Given the description of an element on the screen output the (x, y) to click on. 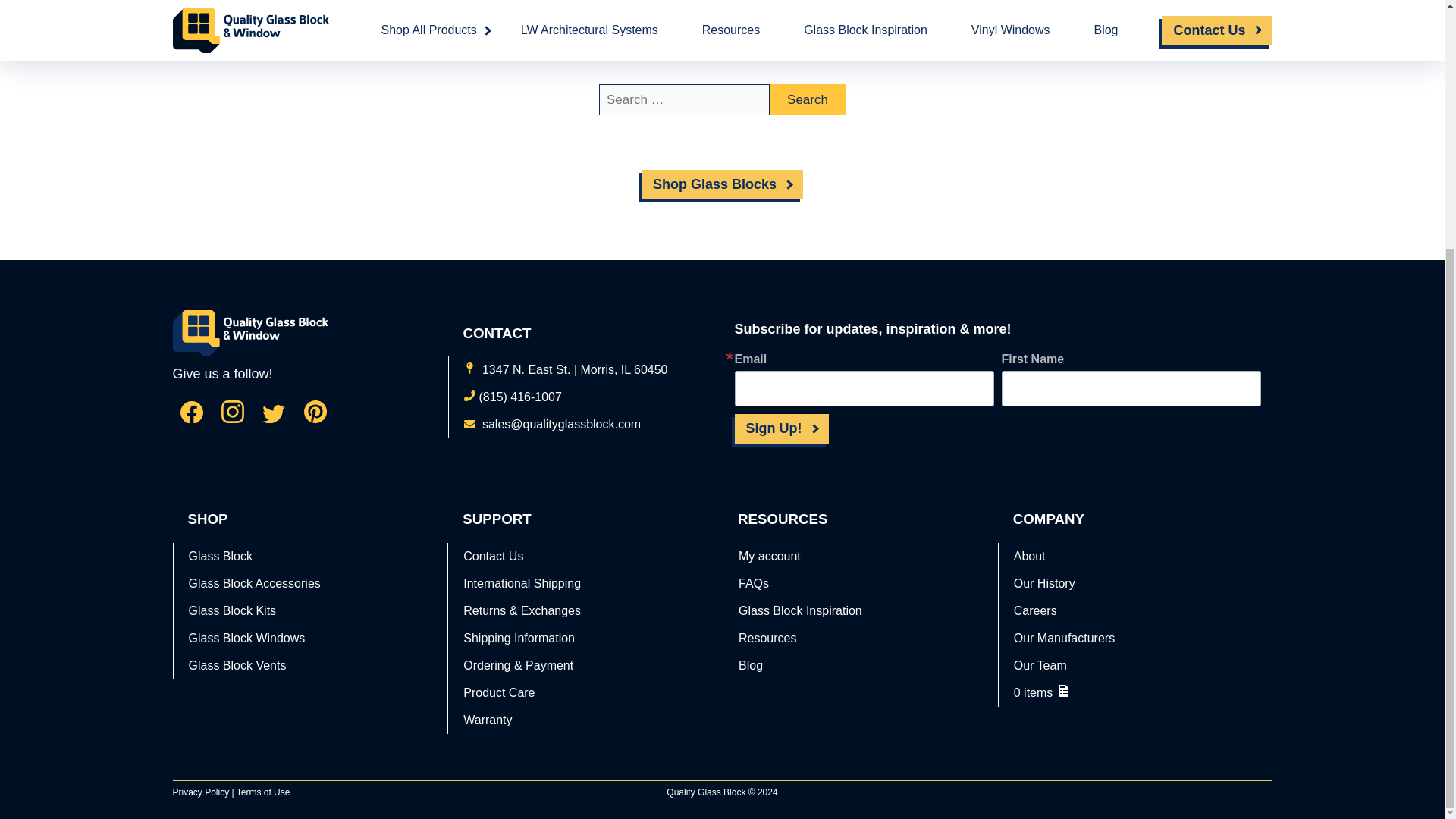
Search (807, 99)
View Quote (1134, 692)
Search for: (684, 99)
Search (807, 99)
